Given the description of an element on the screen output the (x, y) to click on. 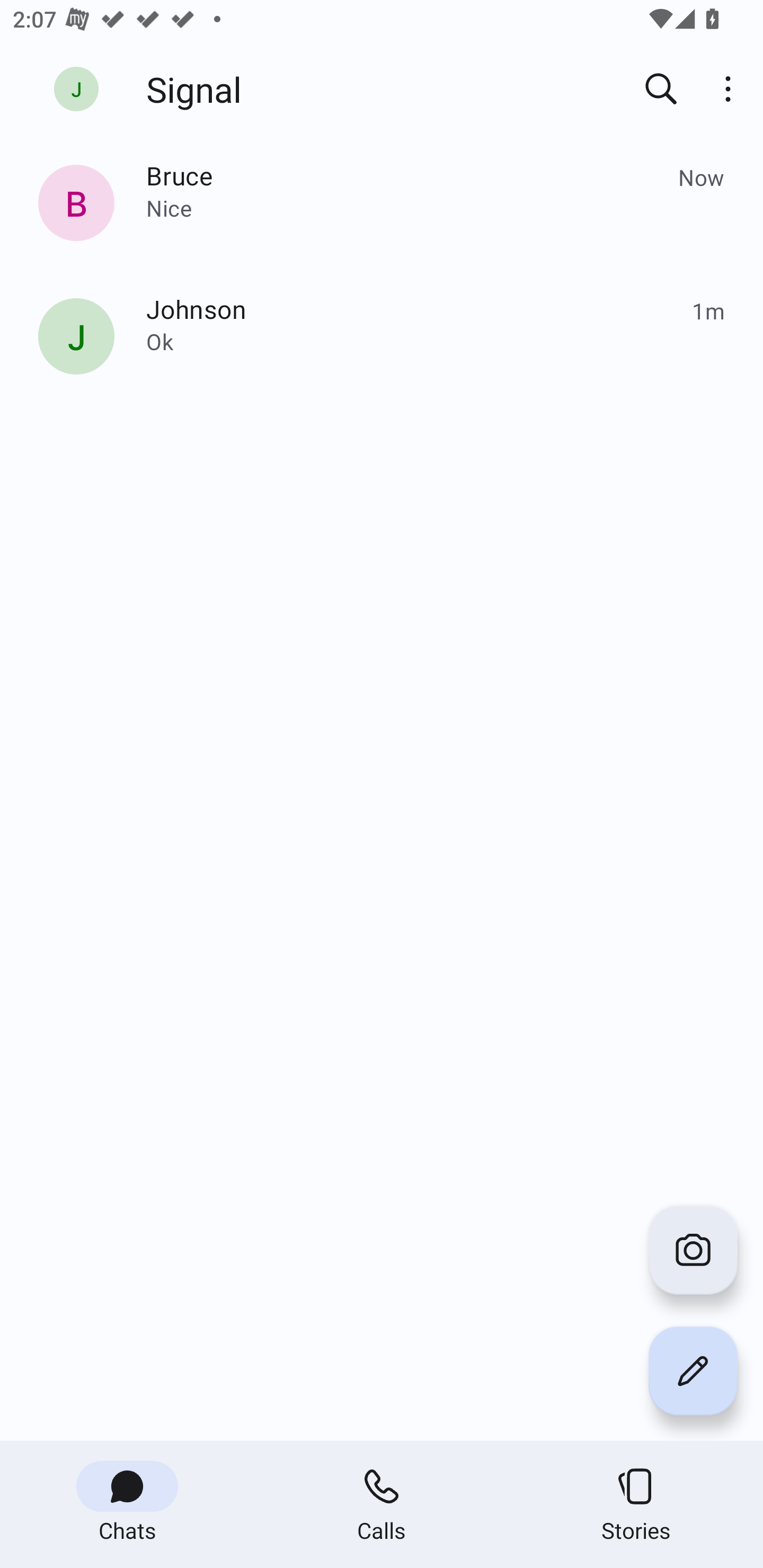
Contact Photo Image Bruce Now Badge Nice (381, 205)
